Given the description of an element on the screen output the (x, y) to click on. 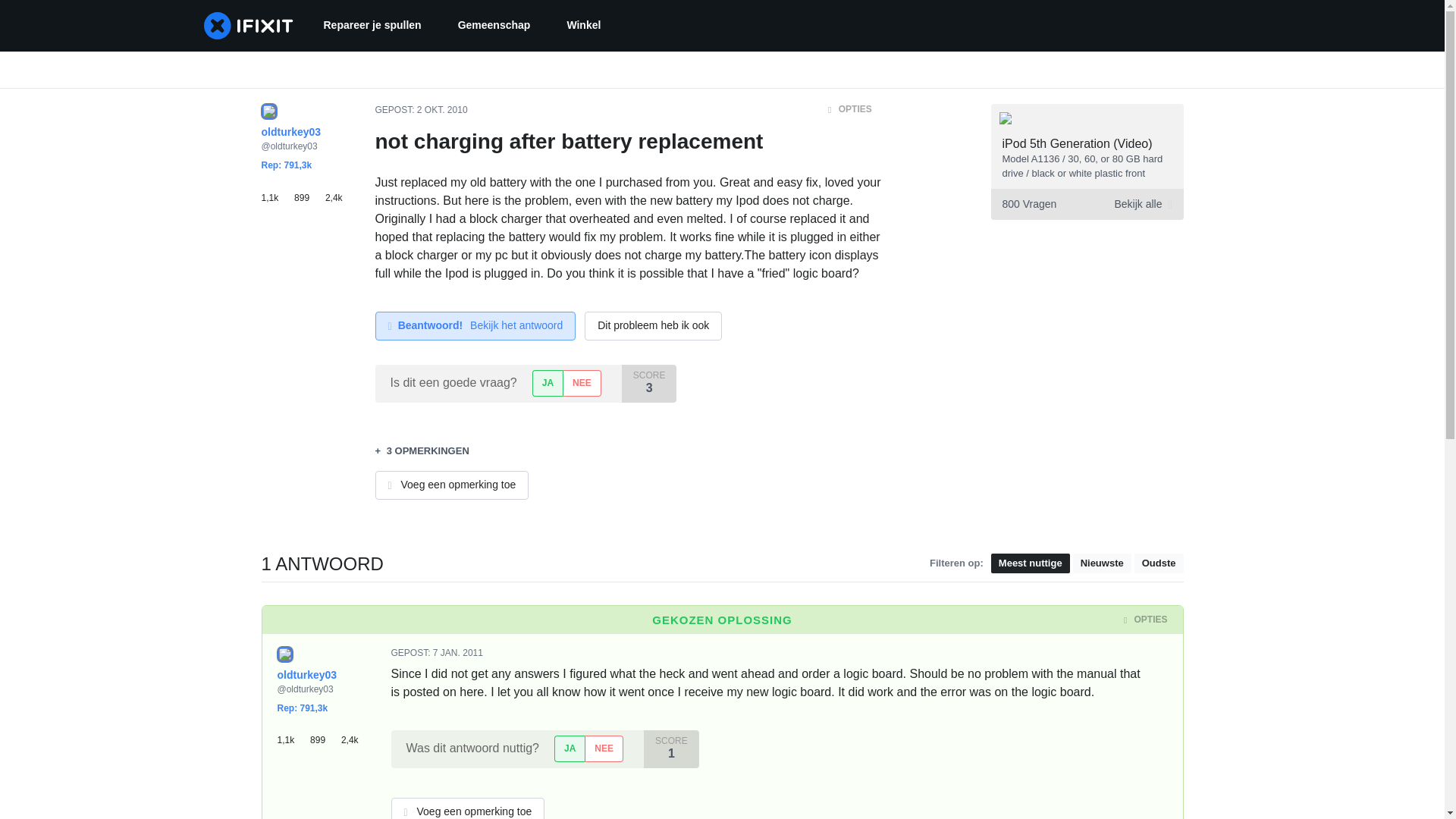
Gemeenschap (493, 25)
Voeg een opmerking toe (451, 484)
Meest nuttige (1030, 563)
Sat, 02 Oct 2010 17:28:26 -0700 (441, 109)
Dit probleem heb ik ook (653, 326)
1154 Brons badges (294, 733)
GEPOST: 7 JAN. 2011 (437, 652)
JA (547, 383)
1154 Brons badges (277, 190)
Beantwoord! Bekijk het antwoord (474, 326)
Fri, 07 Jan 2011 07:34:44 -0700 (457, 652)
Nieuwste (1102, 563)
1,1k 899 2,4k (306, 190)
1,1k 899 2,4k (323, 733)
Winkel (583, 25)
